Given the description of an element on the screen output the (x, y) to click on. 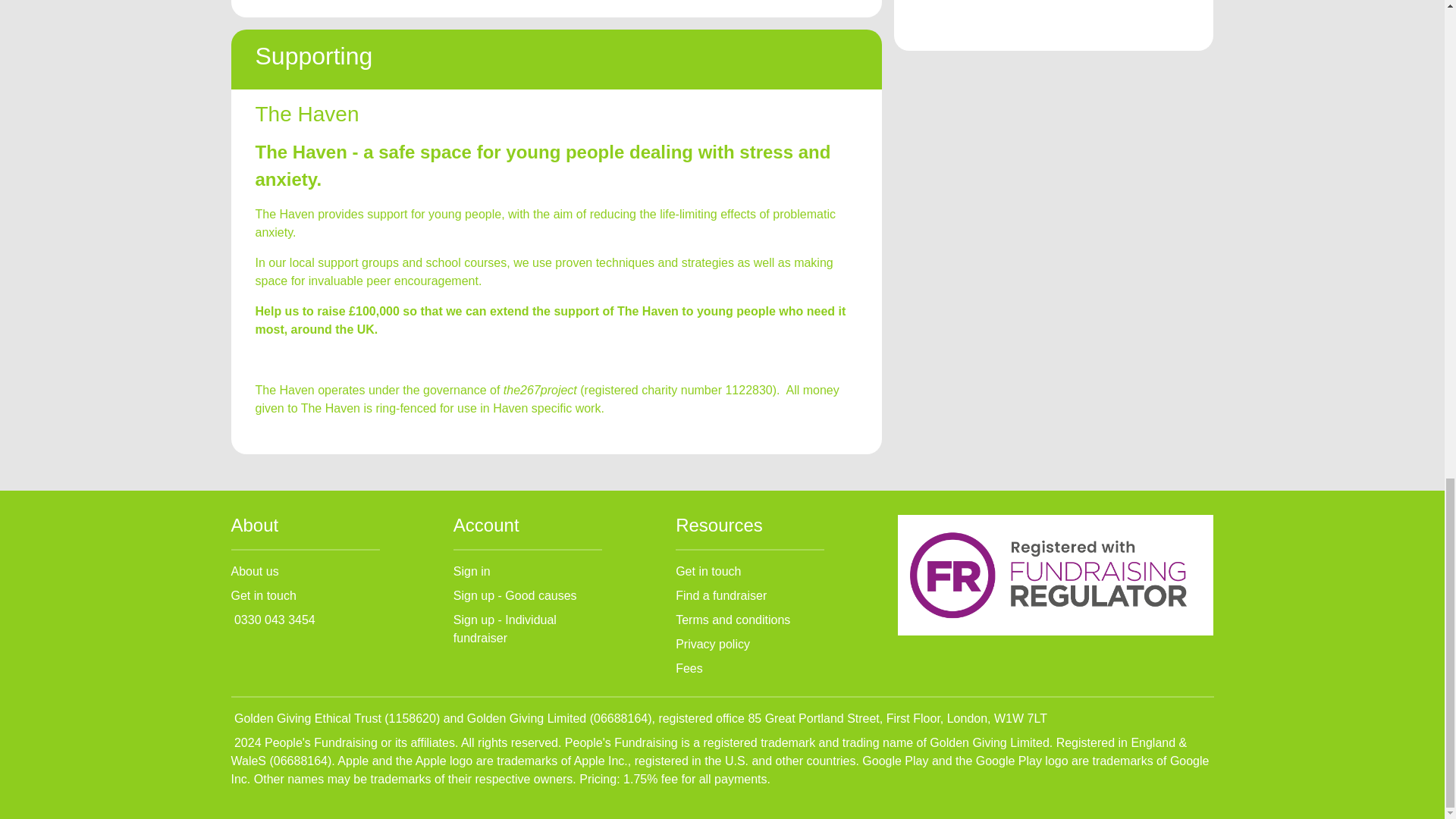
Find a fundraiser (721, 594)
Get in touch (708, 571)
Privacy policy (712, 644)
Terms and conditions (732, 619)
Sign up - Good causes (514, 594)
Sign in (471, 571)
Sign up - Individual fundraiser (504, 628)
Fees (689, 667)
0330 043 3454 (274, 619)
About us (254, 571)
Get in touch (262, 594)
